Given the description of an element on the screen output the (x, y) to click on. 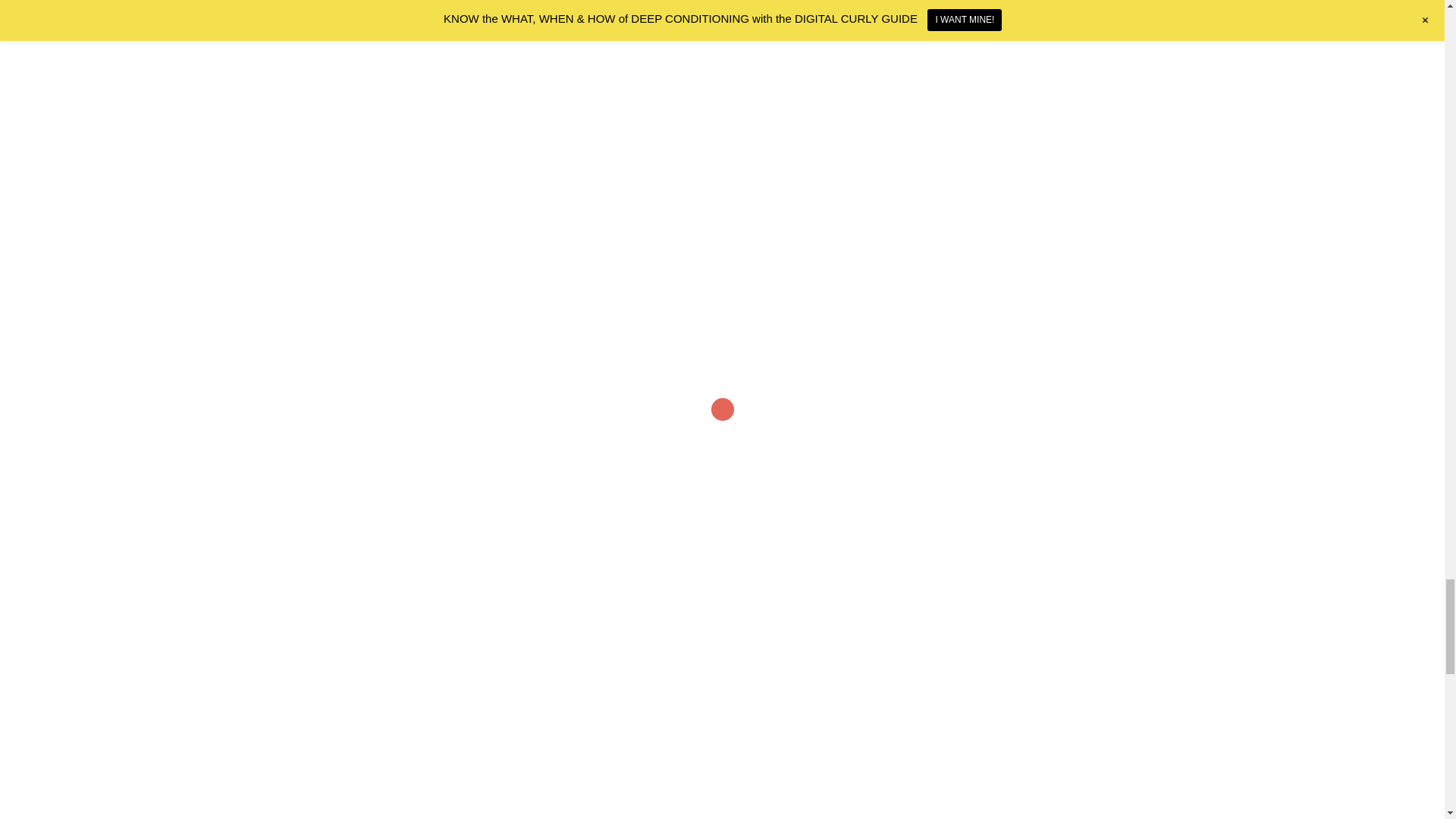
Tips To Achieve A Perfect Curly Hair Set (433, 707)
post series (458, 324)
Vegan And Cruelty Free Products For Curly Hair (756, 707)
